Given the description of an element on the screen output the (x, y) to click on. 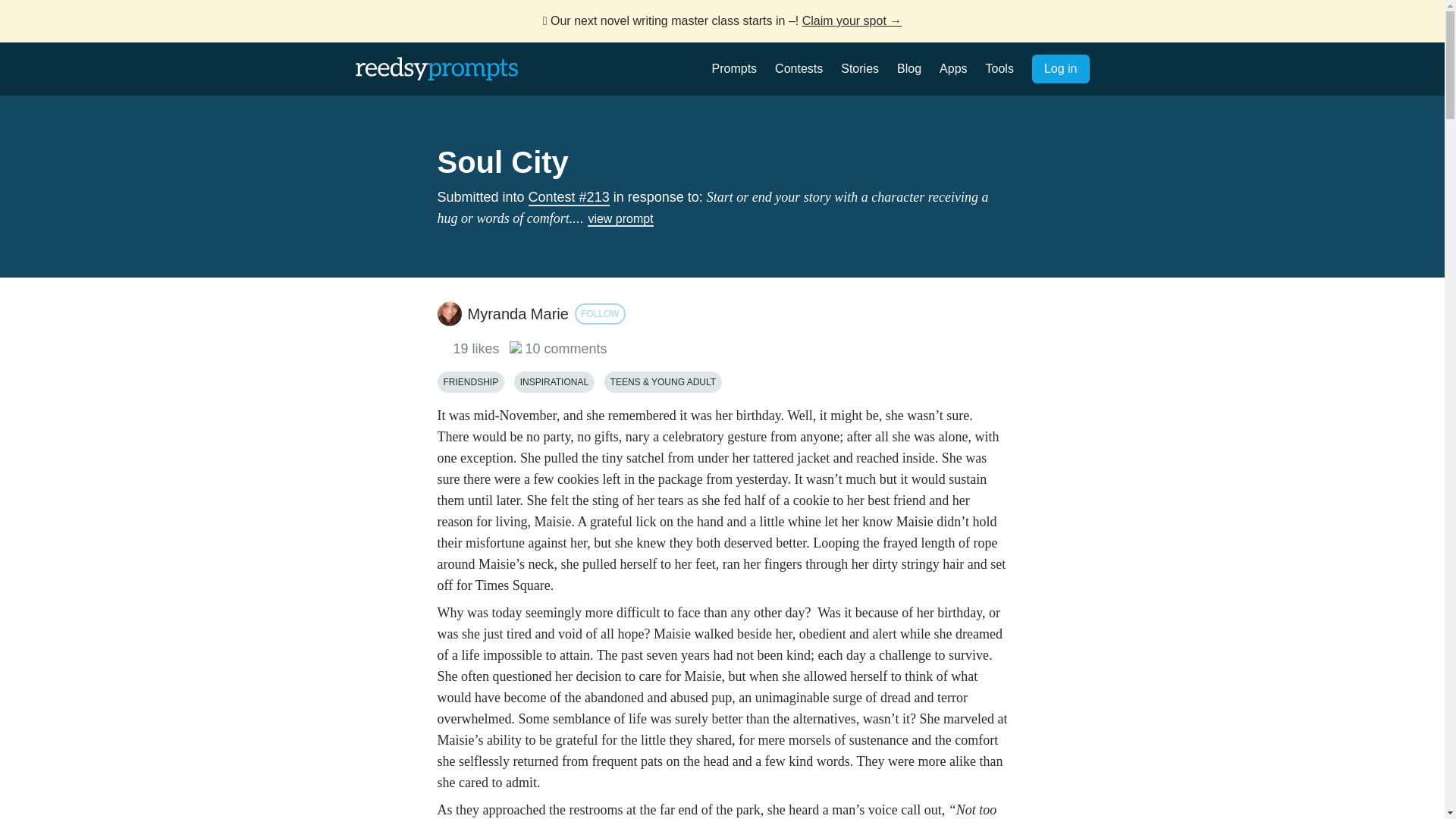
Stories (860, 68)
10 comments (558, 348)
Apps (952, 68)
Prompts (734, 68)
Blog (908, 68)
Contests (798, 68)
Tools (999, 68)
Log in (1060, 68)
